Given the description of an element on the screen output the (x, y) to click on. 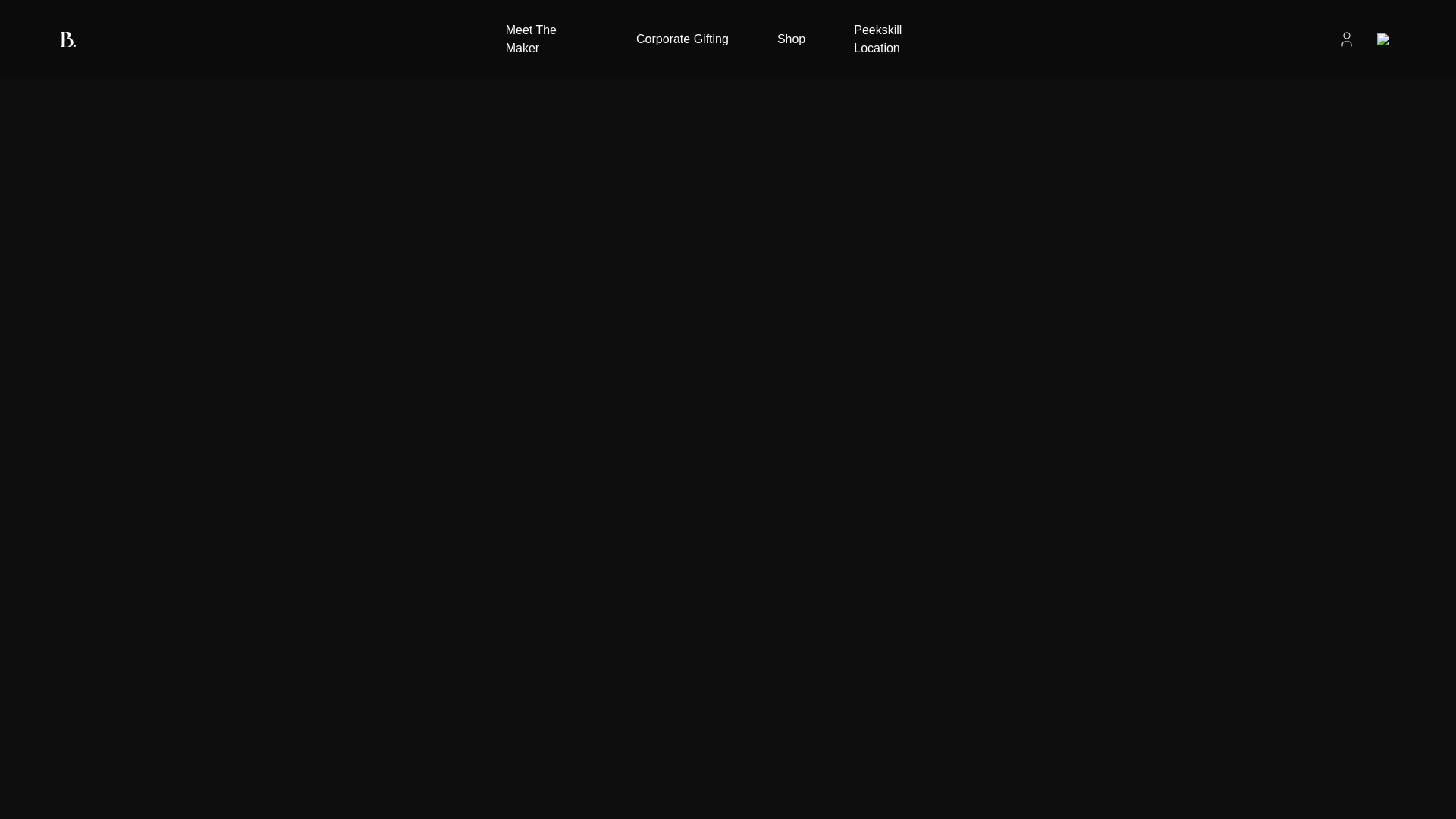
Shop (791, 38)
Peekskill Location (901, 39)
Meet The Maker (546, 39)
Corporate Gifting (682, 39)
